Given the description of an element on the screen output the (x, y) to click on. 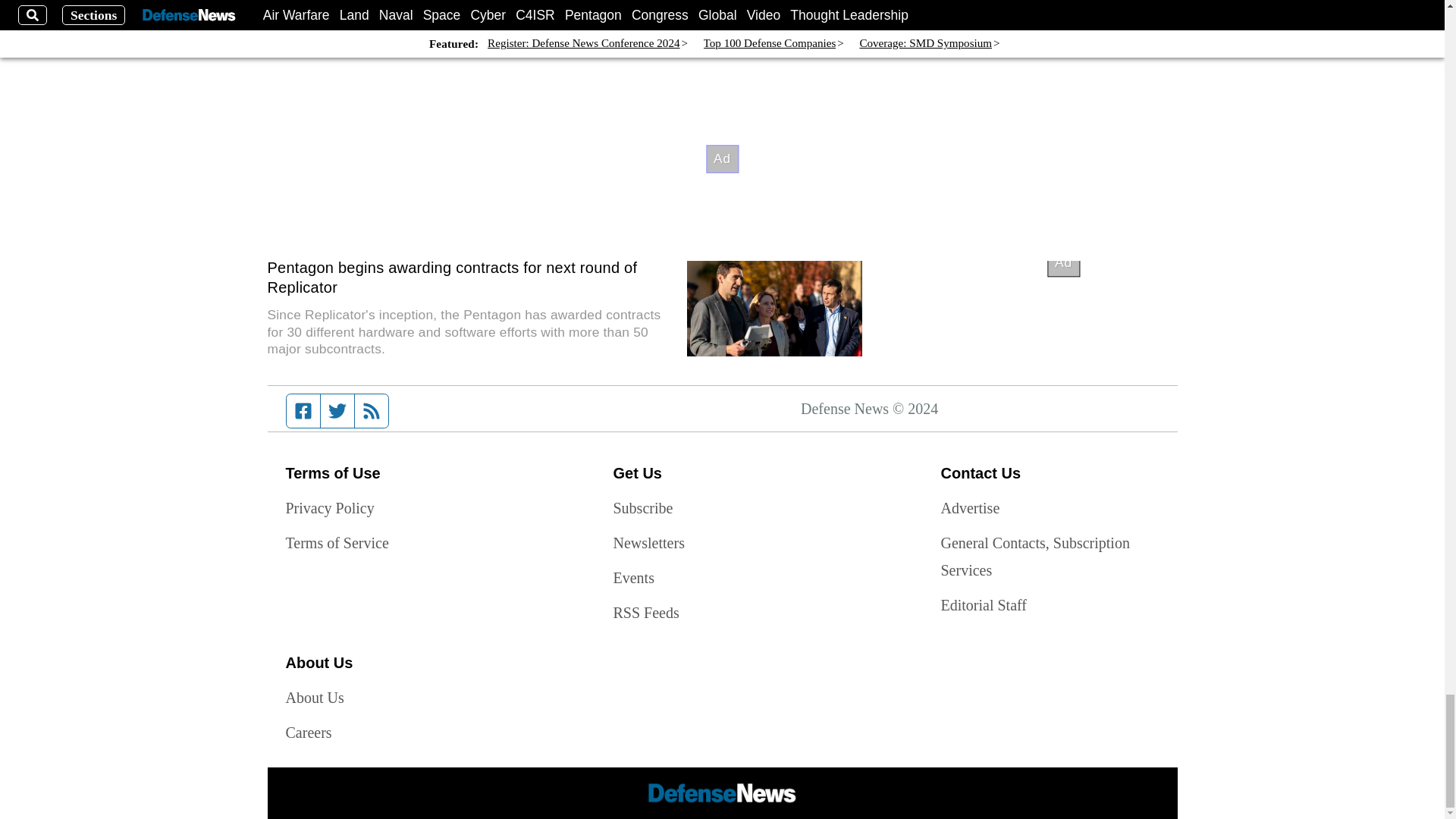
RSS feed (371, 410)
Twitter feed (336, 410)
Facebook page (303, 410)
